Given the description of an element on the screen output the (x, y) to click on. 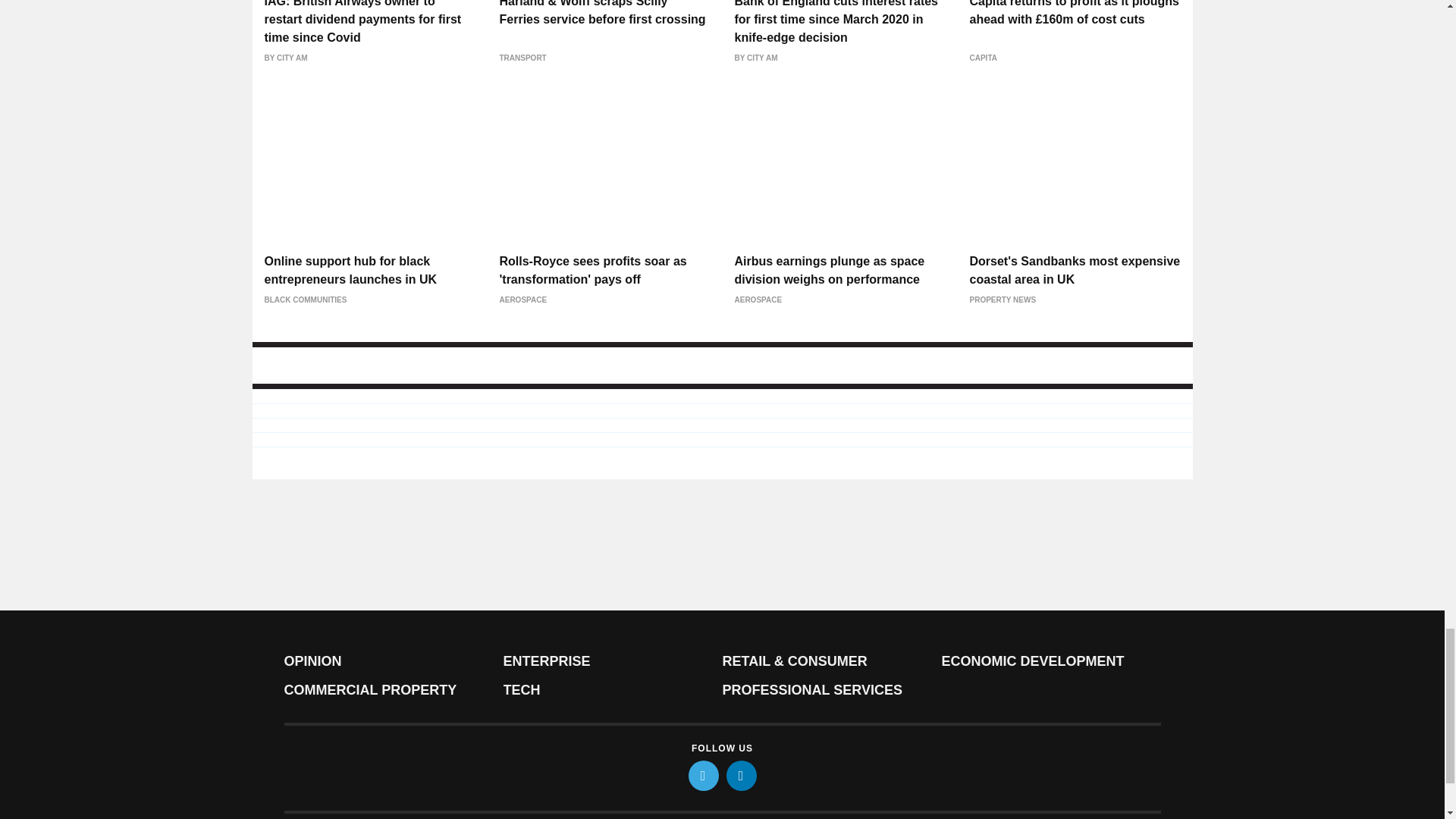
linkedin (741, 775)
twitter (703, 775)
